Given the description of an element on the screen output the (x, y) to click on. 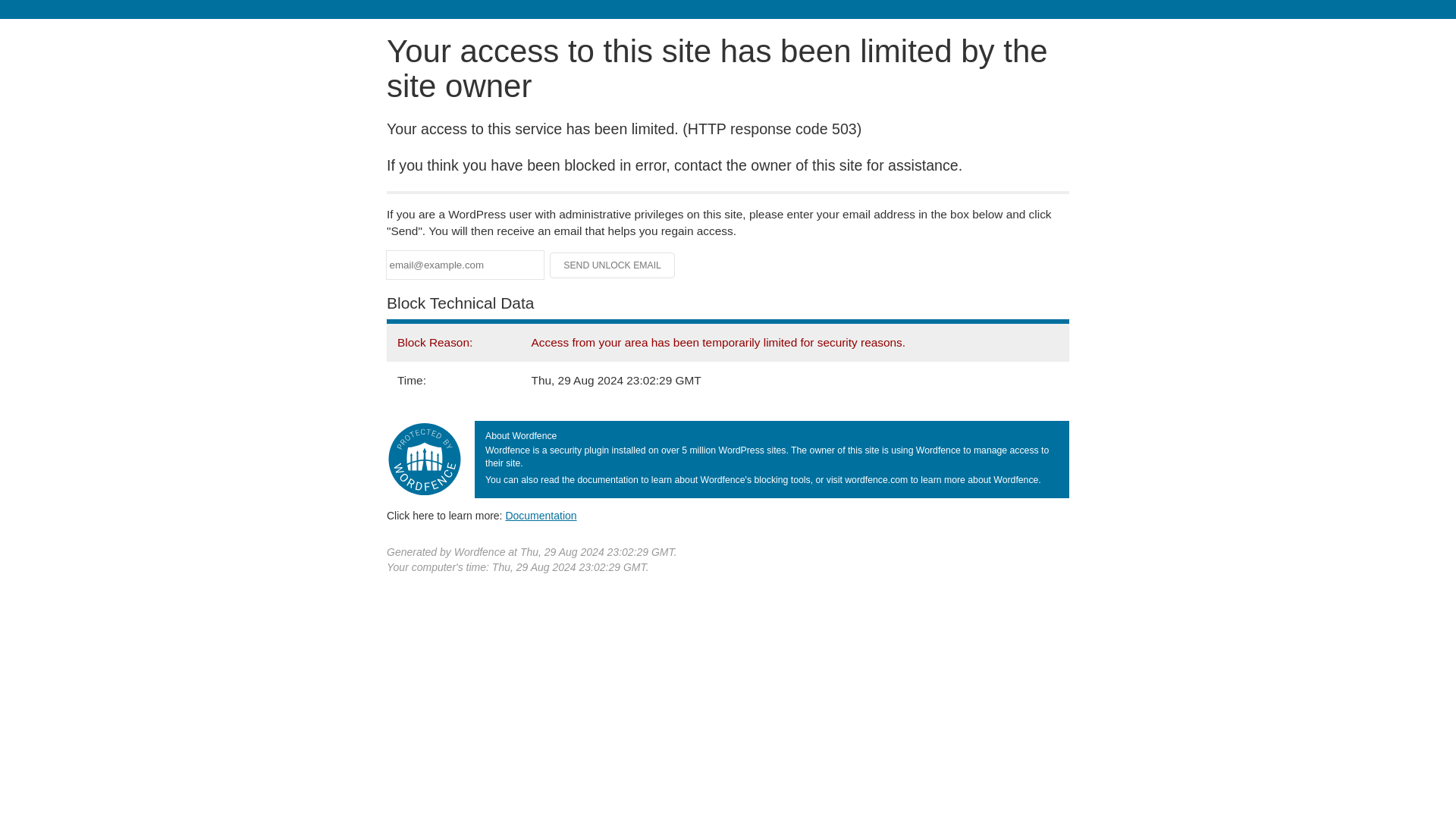
Documentation (540, 515)
Send Unlock Email (612, 265)
Send Unlock Email (612, 265)
